Given the description of an element on the screen output the (x, y) to click on. 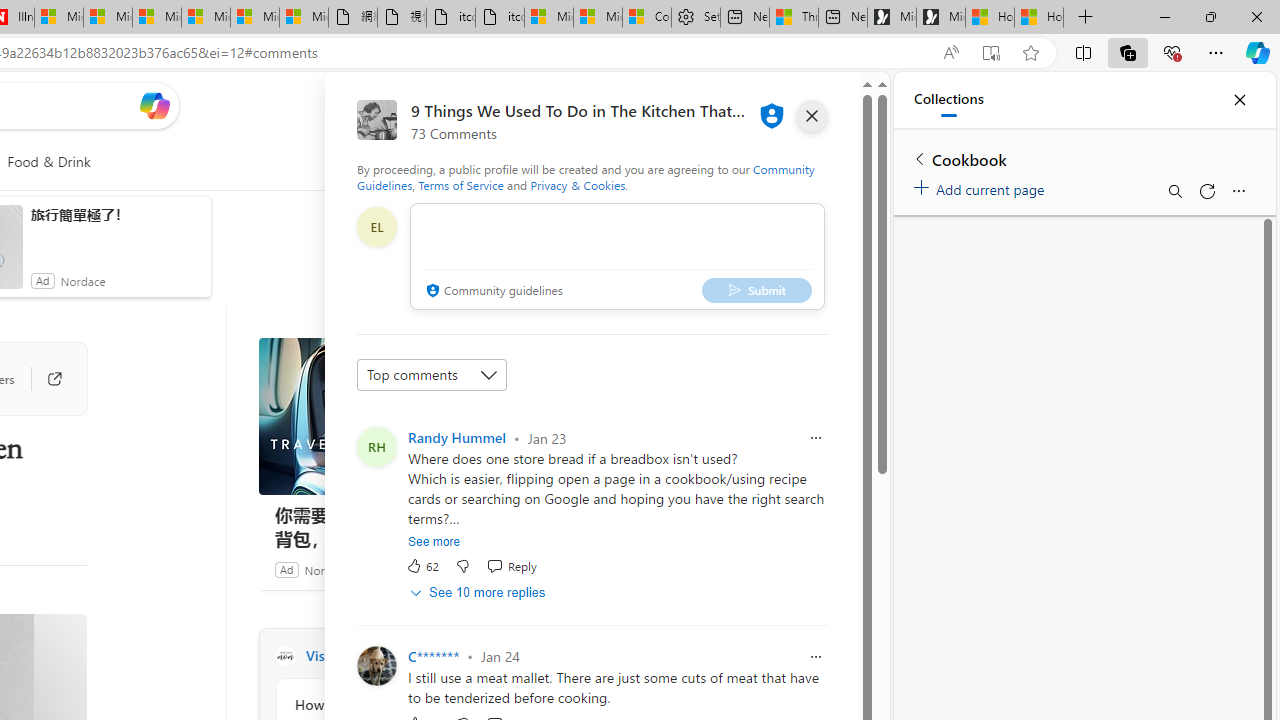
Randy Hummel (456, 437)
Profile Picture (376, 665)
Sort comments by (431, 374)
C******* (433, 655)
